Given the description of an element on the screen output the (x, y) to click on. 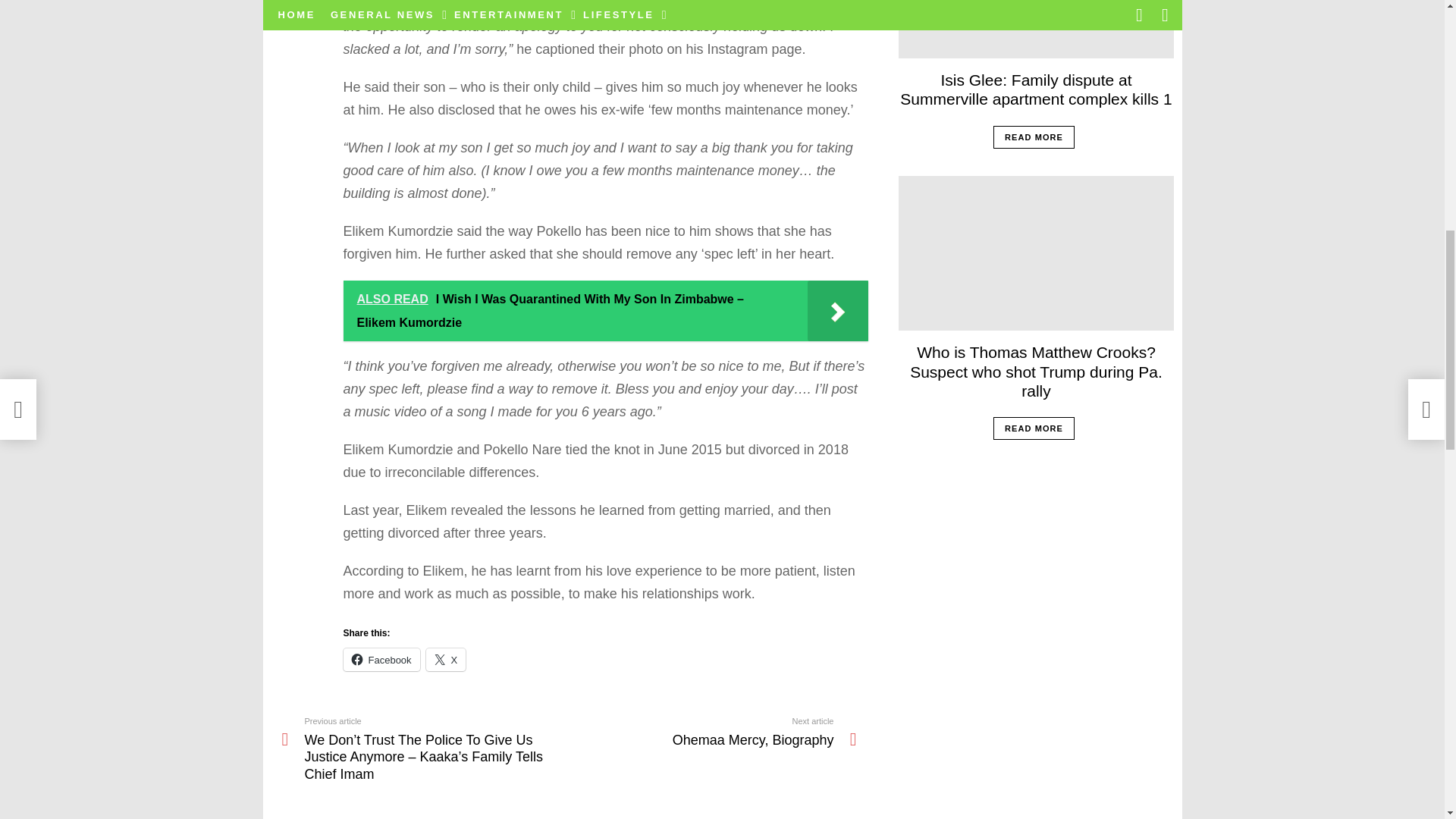
Click to share on X (445, 659)
X (445, 659)
Click to share on Facebook (712, 731)
Facebook (380, 659)
